Given the description of an element on the screen output the (x, y) to click on. 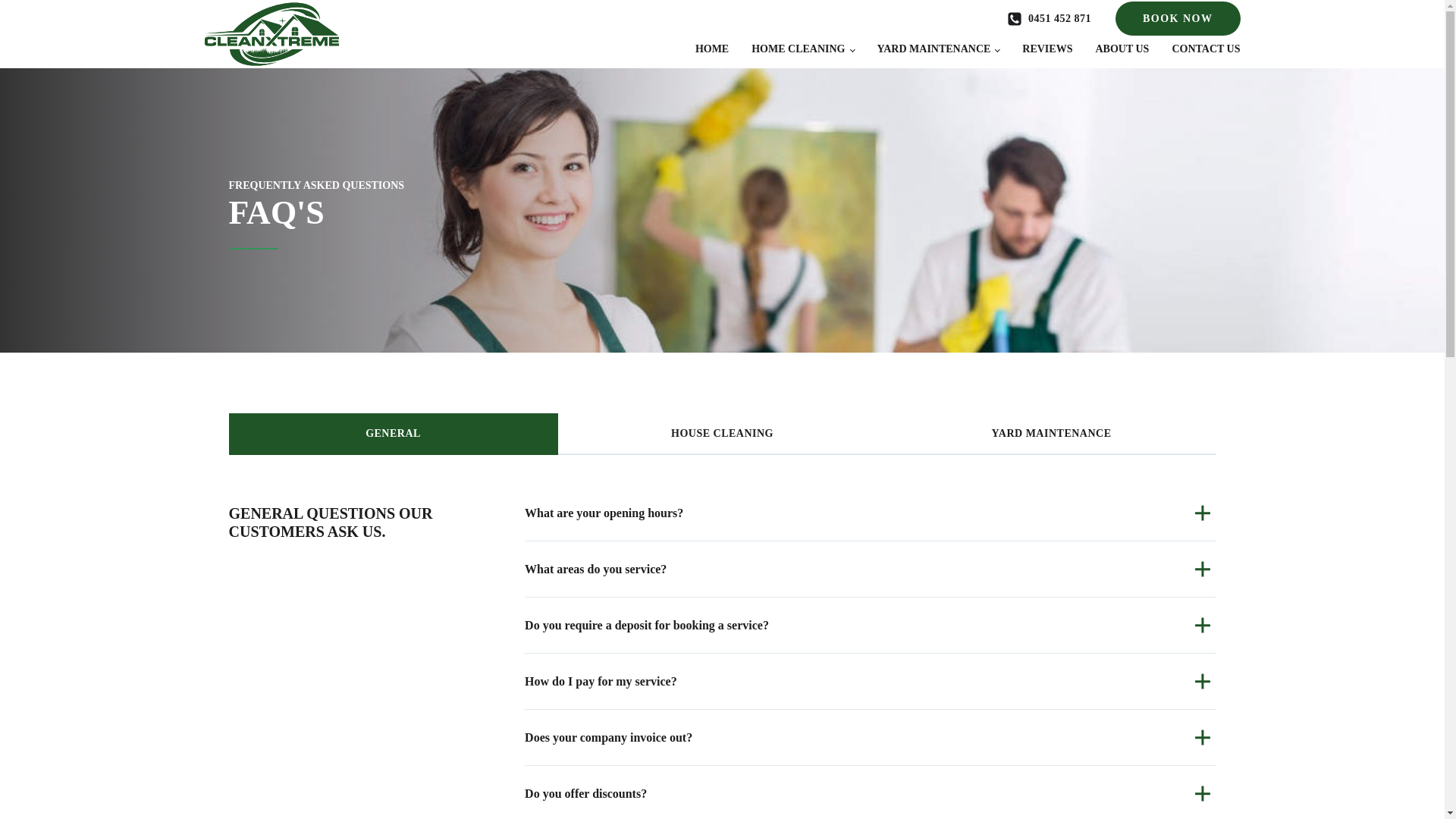
CONTACT US (1194, 45)
HOME CLEANING (791, 45)
0451 452 871 (1048, 17)
REVIEWS (1034, 45)
BOOK NOW (1177, 18)
HOME (700, 45)
ABOUT US (1109, 45)
YARD MAINTENANCE (925, 45)
